Given the description of an element on the screen output the (x, y) to click on. 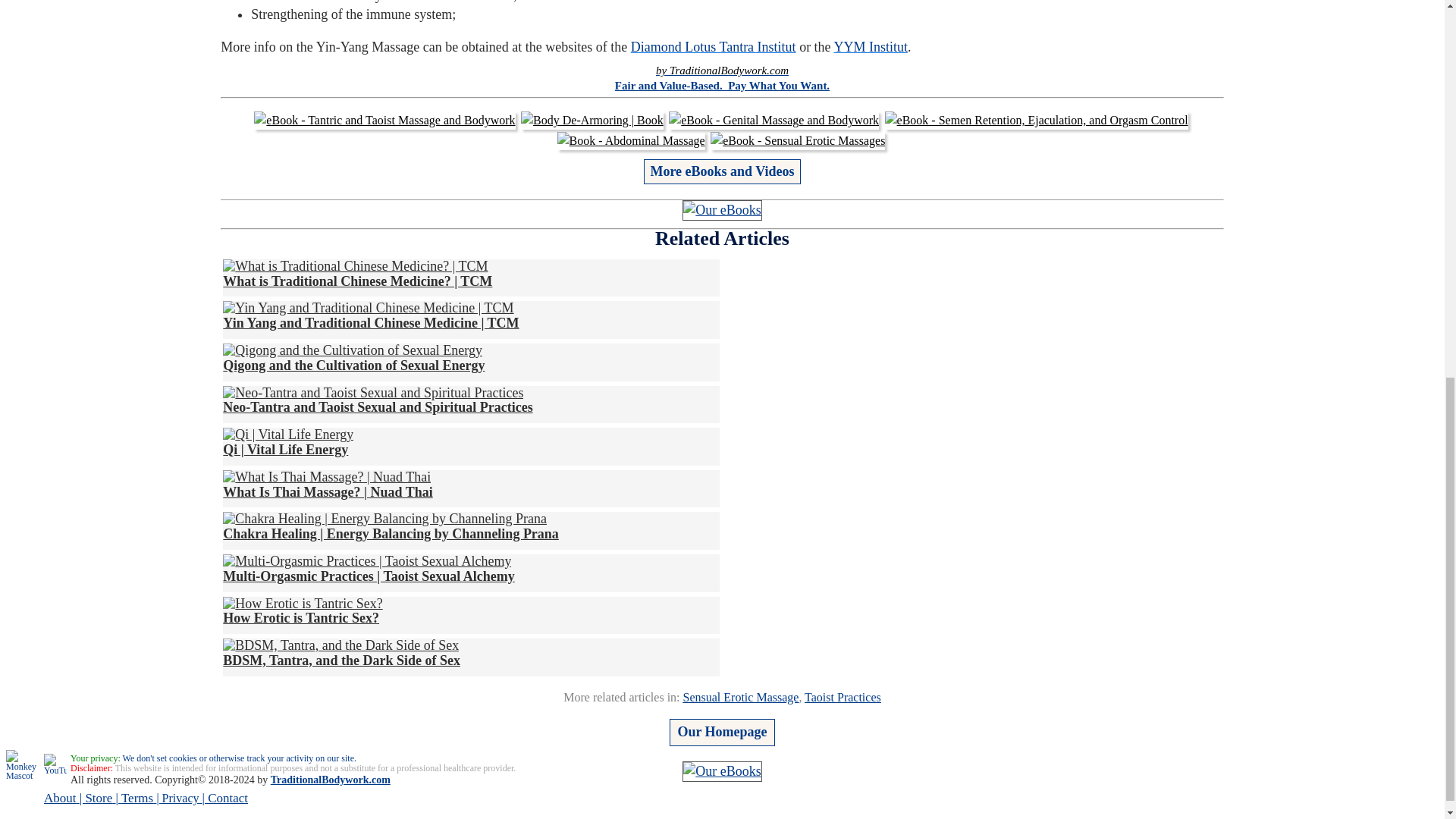
Book - Abdominal Massage (630, 140)
Qigong and the Cultivation of Sexual Energy (353, 358)
eBook - Ejaculation Control (1036, 120)
Diamond Lotus Tantra Institut (713, 46)
Our eBooks (721, 209)
eBook - Tantric and Taoist Massage and Bodywork (384, 120)
eBook - Sensual Erotic Massages (797, 140)
eBook - Genital Massage and Bodywork (773, 120)
Neo-Tantra and Taoist Sexual and Spiritual Practices (377, 399)
